Given the description of an element on the screen output the (x, y) to click on. 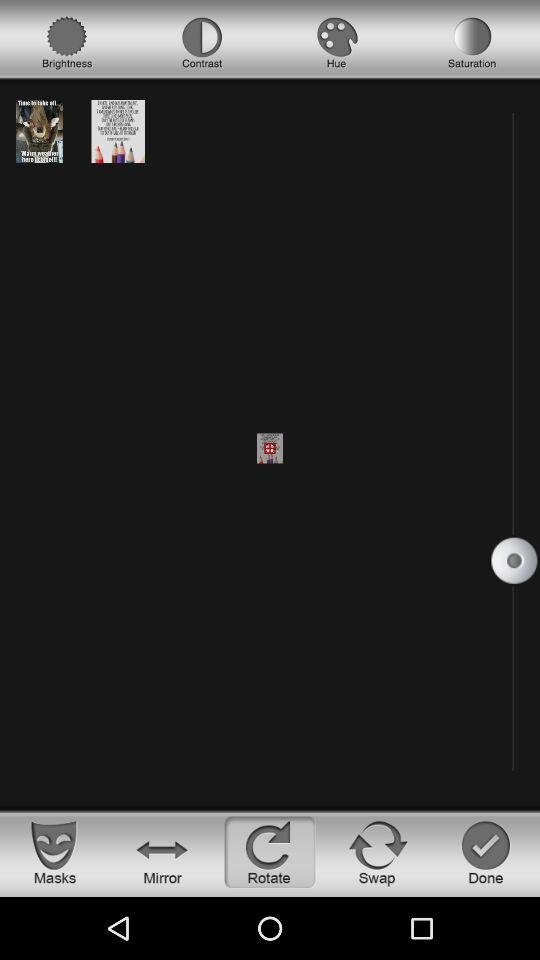
select saturation (472, 43)
